Given the description of an element on the screen output the (x, y) to click on. 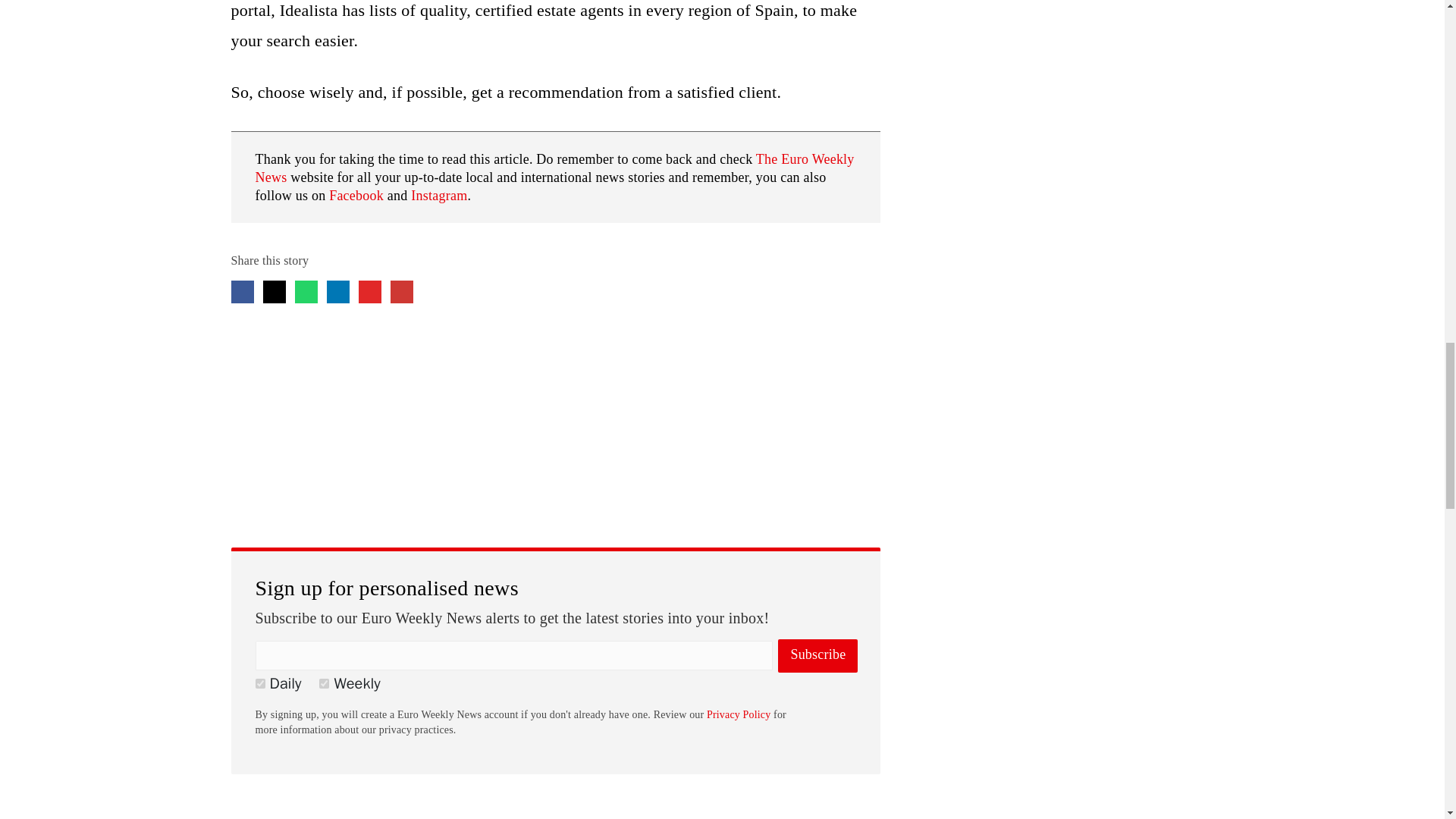
6 (259, 683)
7 (323, 683)
Subscribe (817, 655)
